Given the description of an element on the screen output the (x, y) to click on. 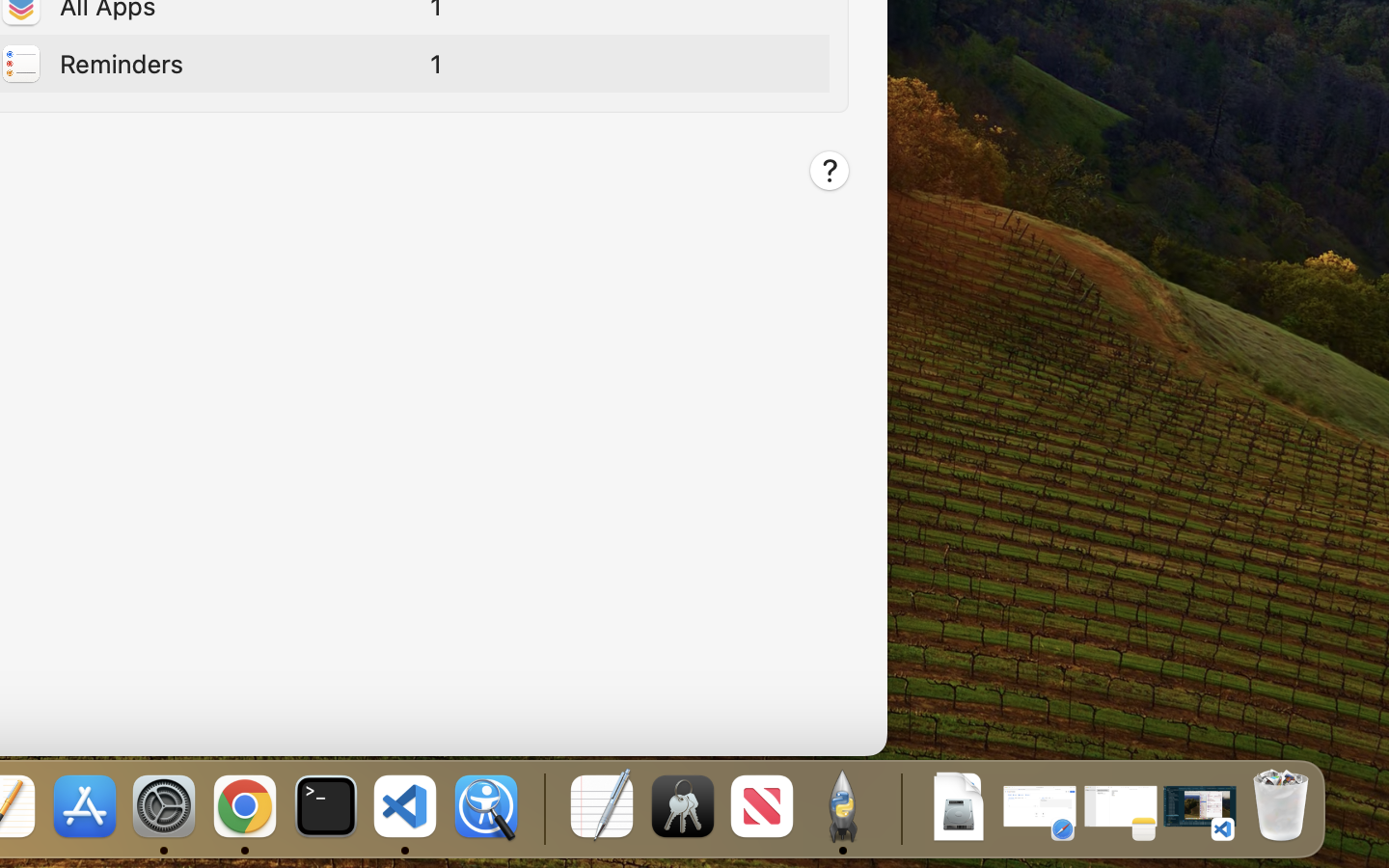
0.4285714328289032 Element type: AXDockItem (541, 807)
